Given the description of an element on the screen output the (x, y) to click on. 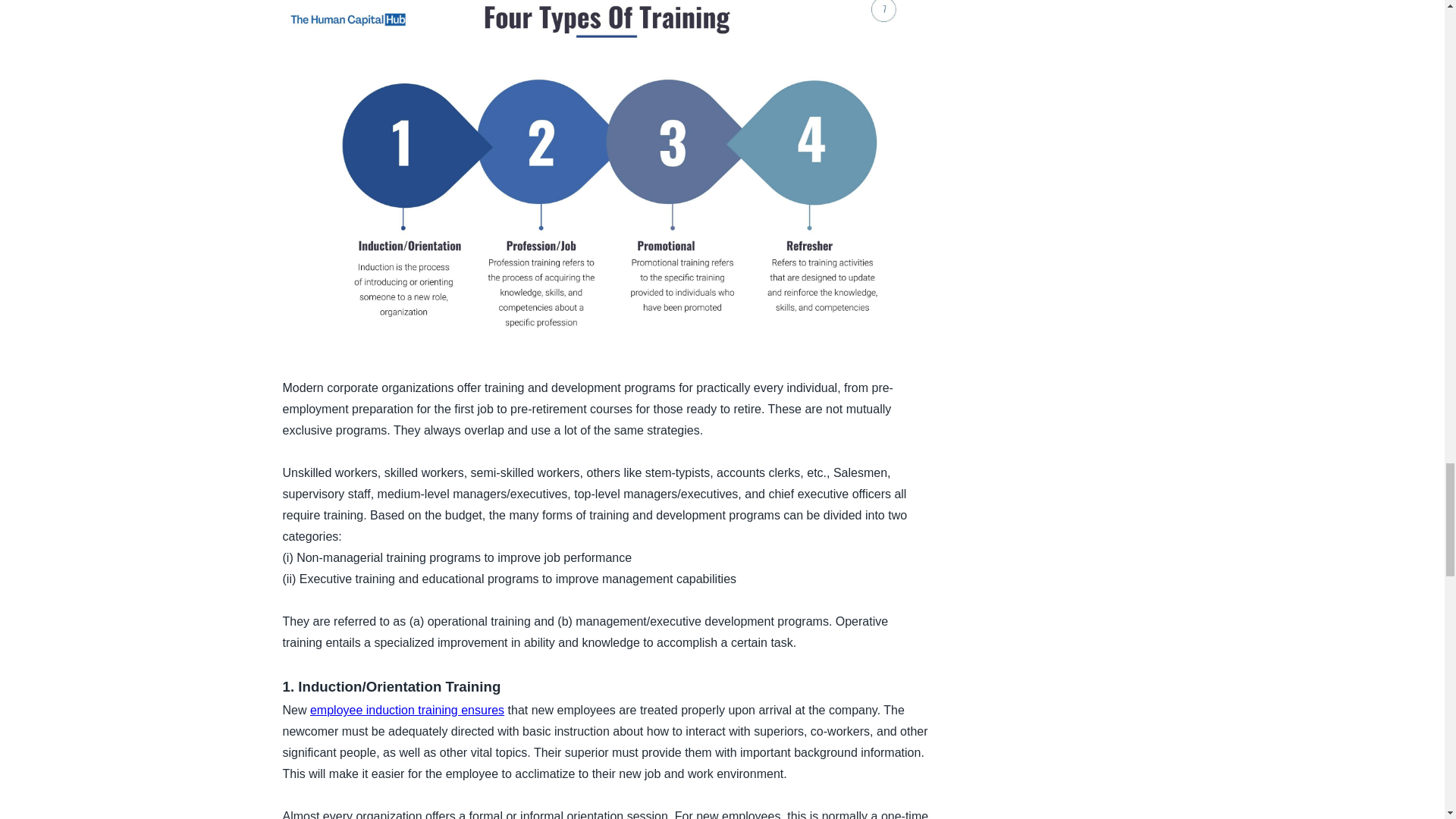
employee induction training ensures (406, 709)
